Given the description of an element on the screen output the (x, y) to click on. 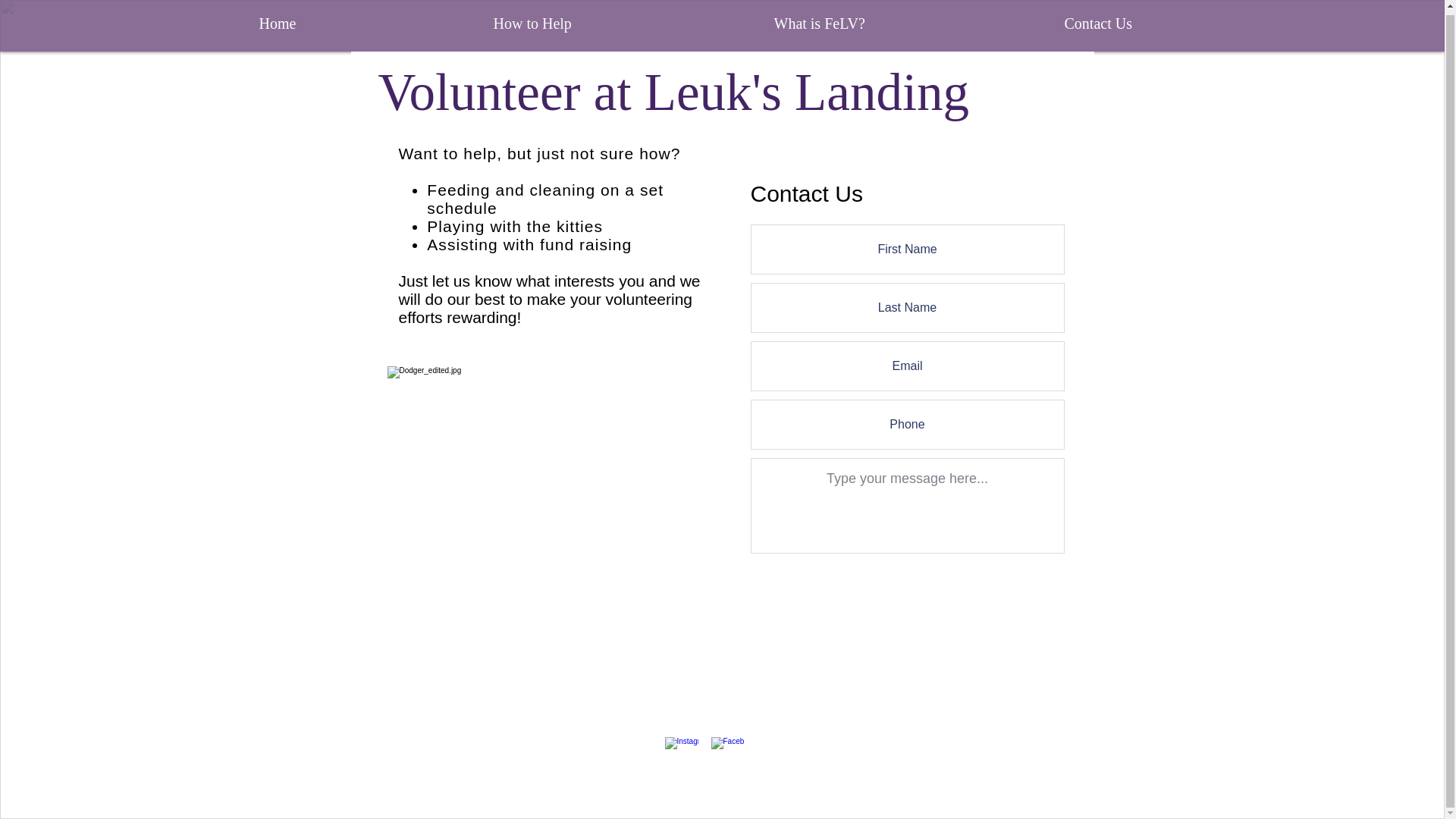
How to Help (621, 23)
Wix.com (860, 775)
Contact Us (1187, 23)
What is FeLV? (907, 23)
Home (364, 23)
